Given the description of an element on the screen output the (x, y) to click on. 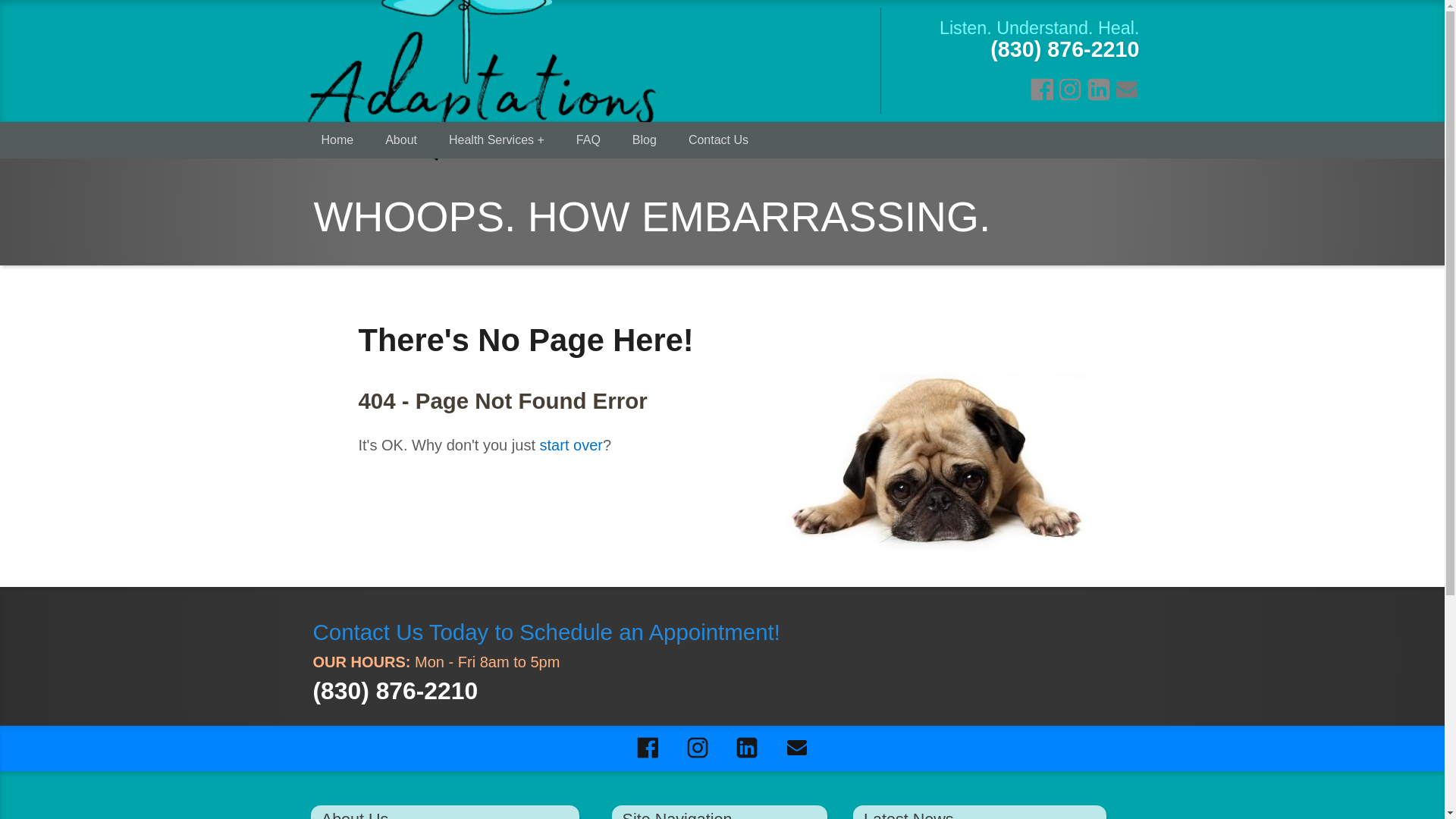
Home (336, 140)
start over (571, 444)
Health Services (496, 140)
Contact Us (718, 140)
About (400, 140)
Blog (643, 140)
FAQ (587, 140)
